Given the description of an element on the screen output the (x, y) to click on. 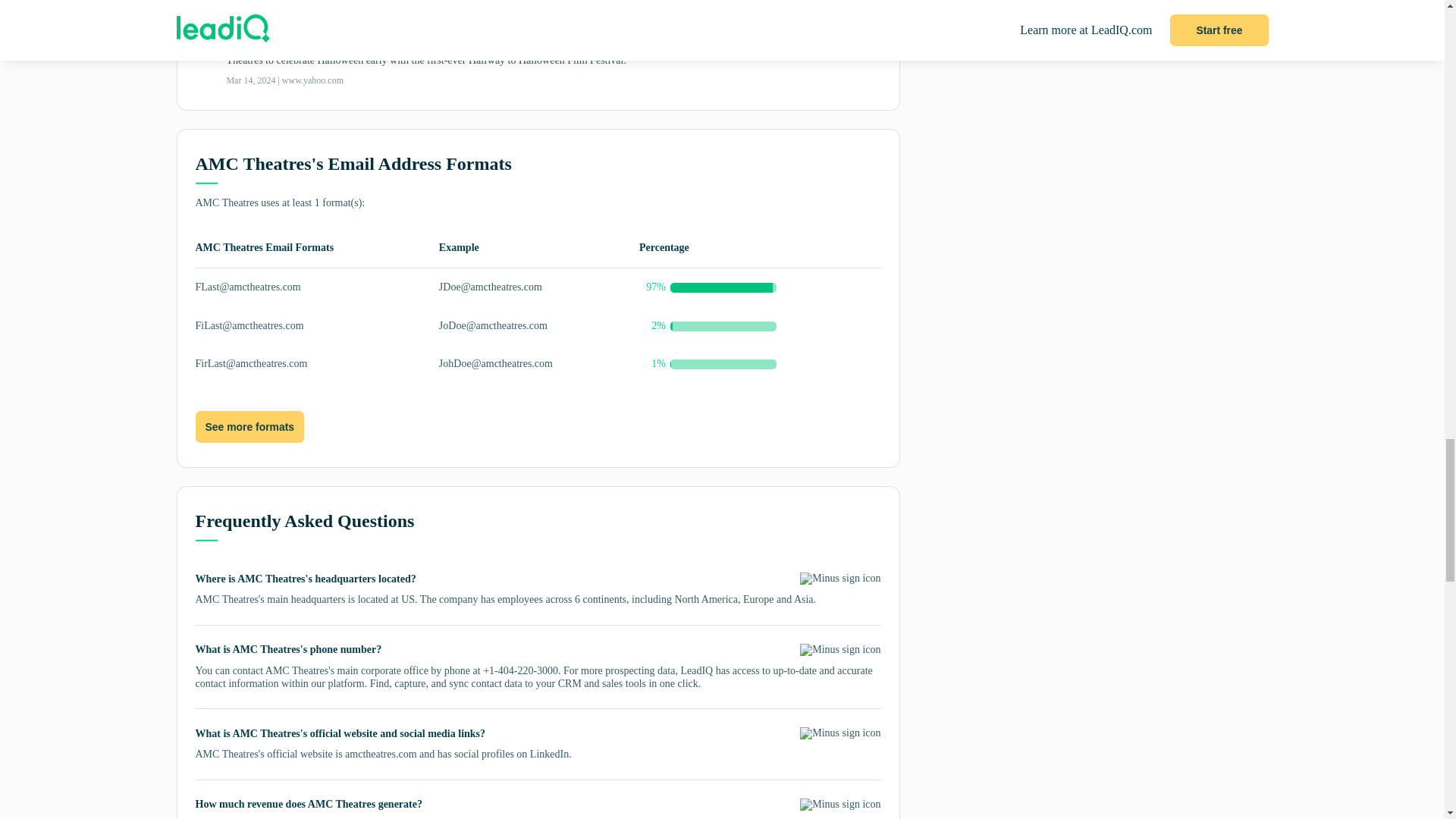
LinkedIn (549, 754)
amctheatres.com (380, 754)
See more formats (249, 427)
See more formats (249, 427)
